Given the description of an element on the screen output the (x, y) to click on. 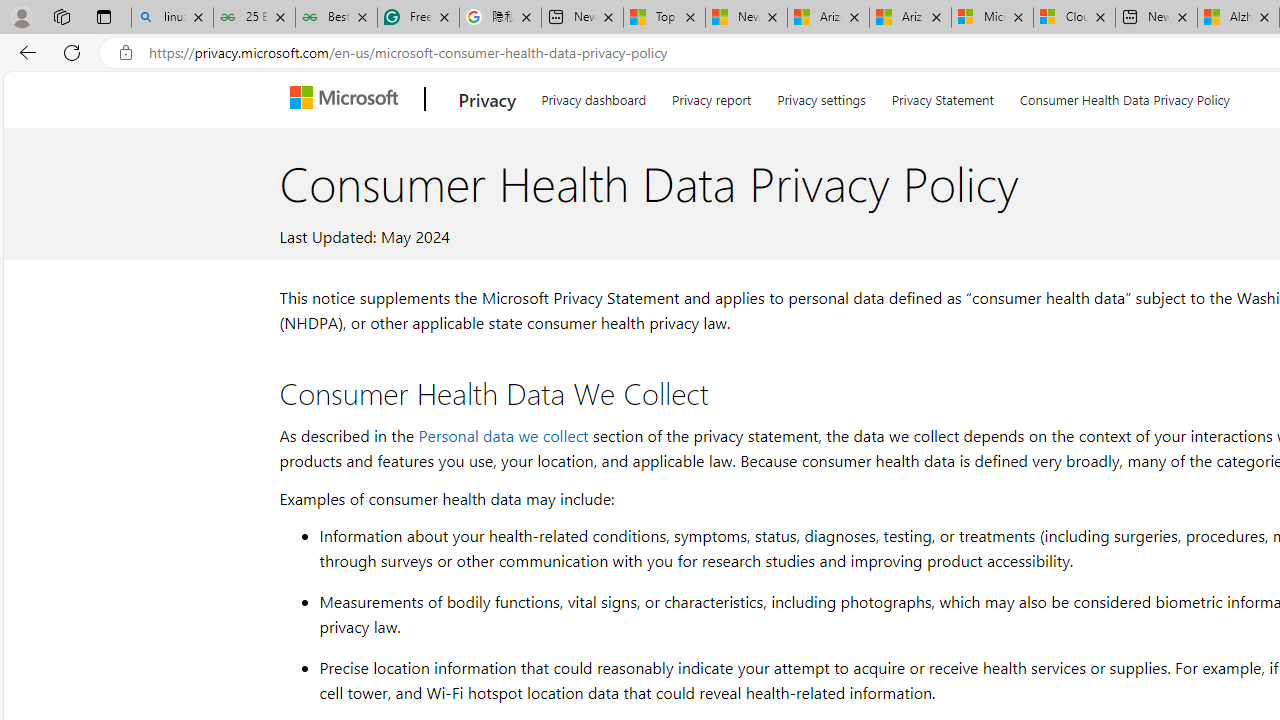
Personal data we collect (503, 434)
